Given the description of an element on the screen output the (x, y) to click on. 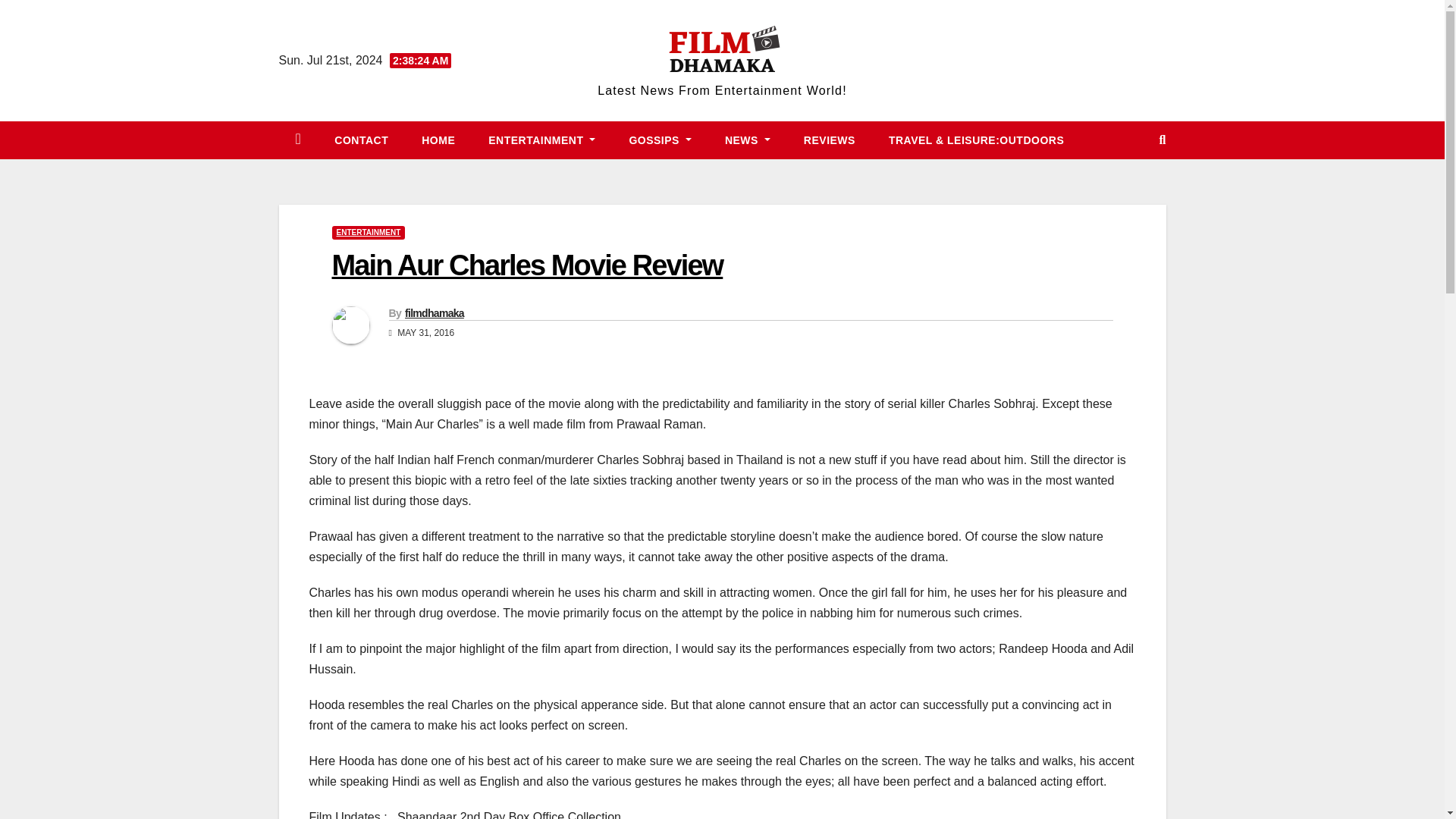
HOME (437, 139)
Gossips (659, 139)
Main Aur Charles Movie Review (527, 265)
filmdhamaka (434, 313)
Home (437, 139)
CONTACT (360, 139)
REVIEWS (829, 139)
News (747, 139)
Contact (360, 139)
NEWS (747, 139)
Entertainment (541, 139)
Reviews (829, 139)
ENTERTAINMENT (368, 232)
GOSSIPS (659, 139)
ENTERTAINMENT (541, 139)
